Given the description of an element on the screen output the (x, y) to click on. 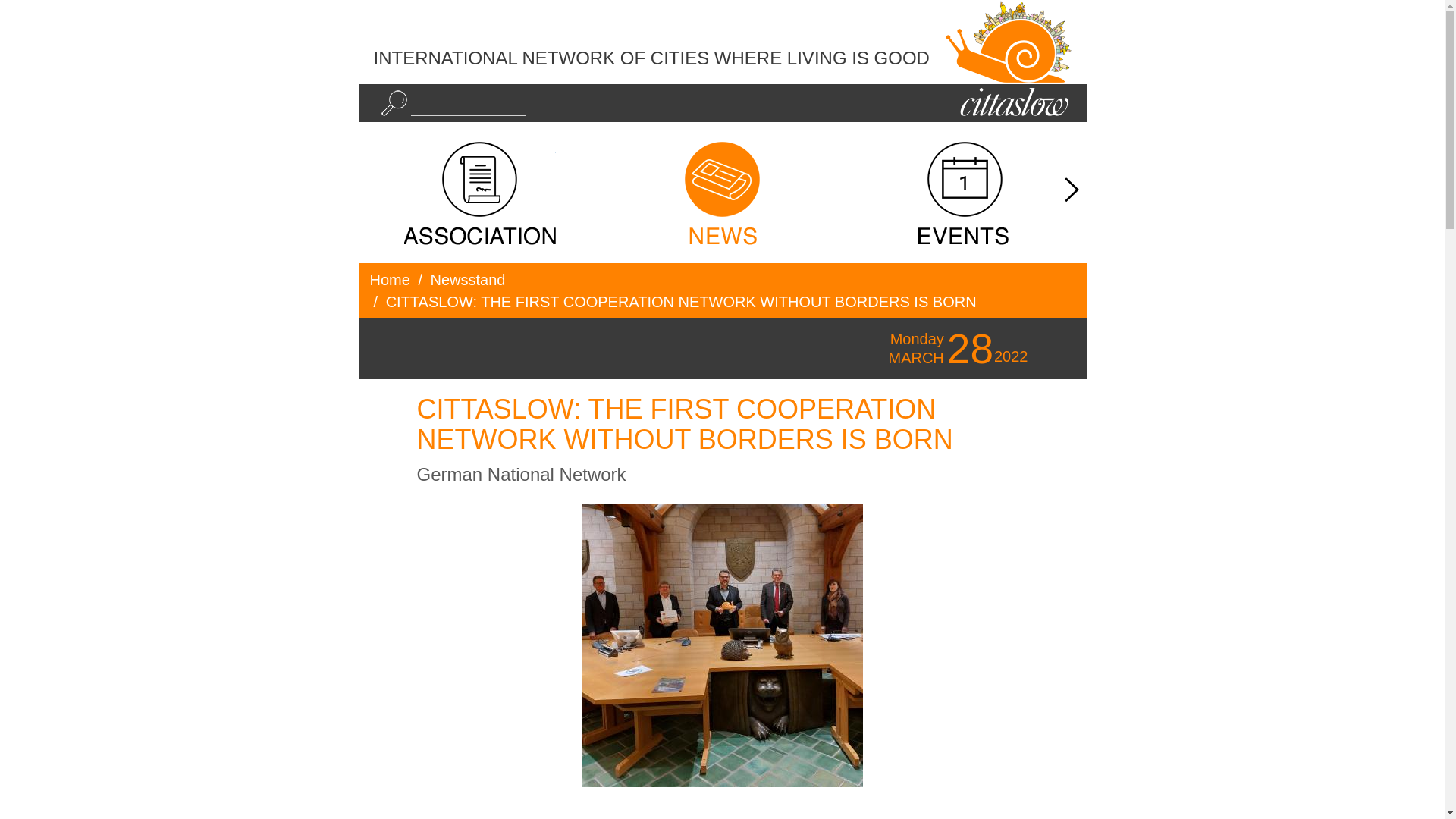
Association (478, 192)
Home (389, 279)
Search (393, 103)
Newsstand (721, 192)
News (721, 192)
Newsstand (467, 279)
Events (964, 192)
Association (478, 192)
Events (964, 192)
